Given the description of an element on the screen output the (x, y) to click on. 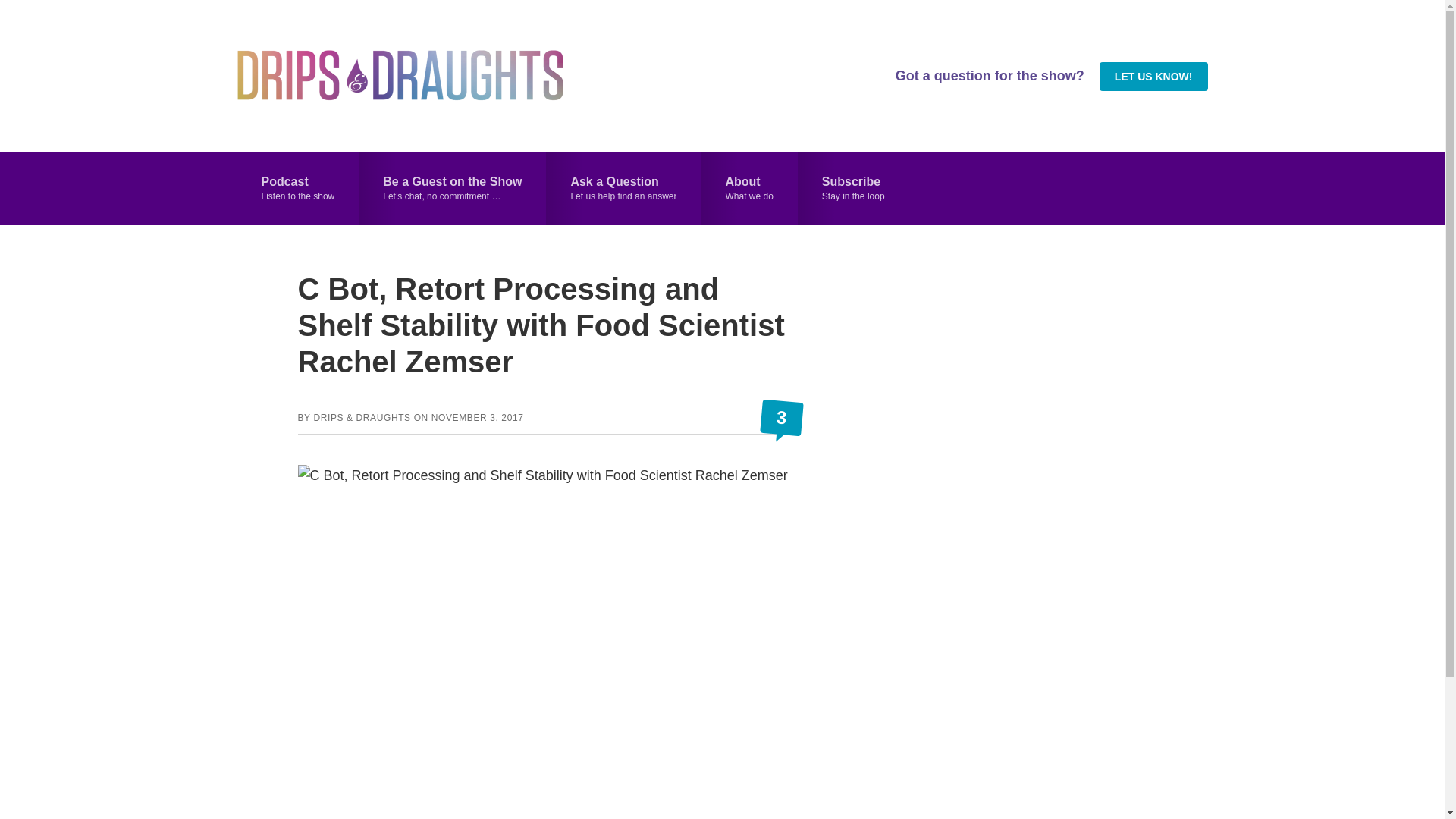
LET US KNOW! (1153, 76)
